Given the description of an element on the screen output the (x, y) to click on. 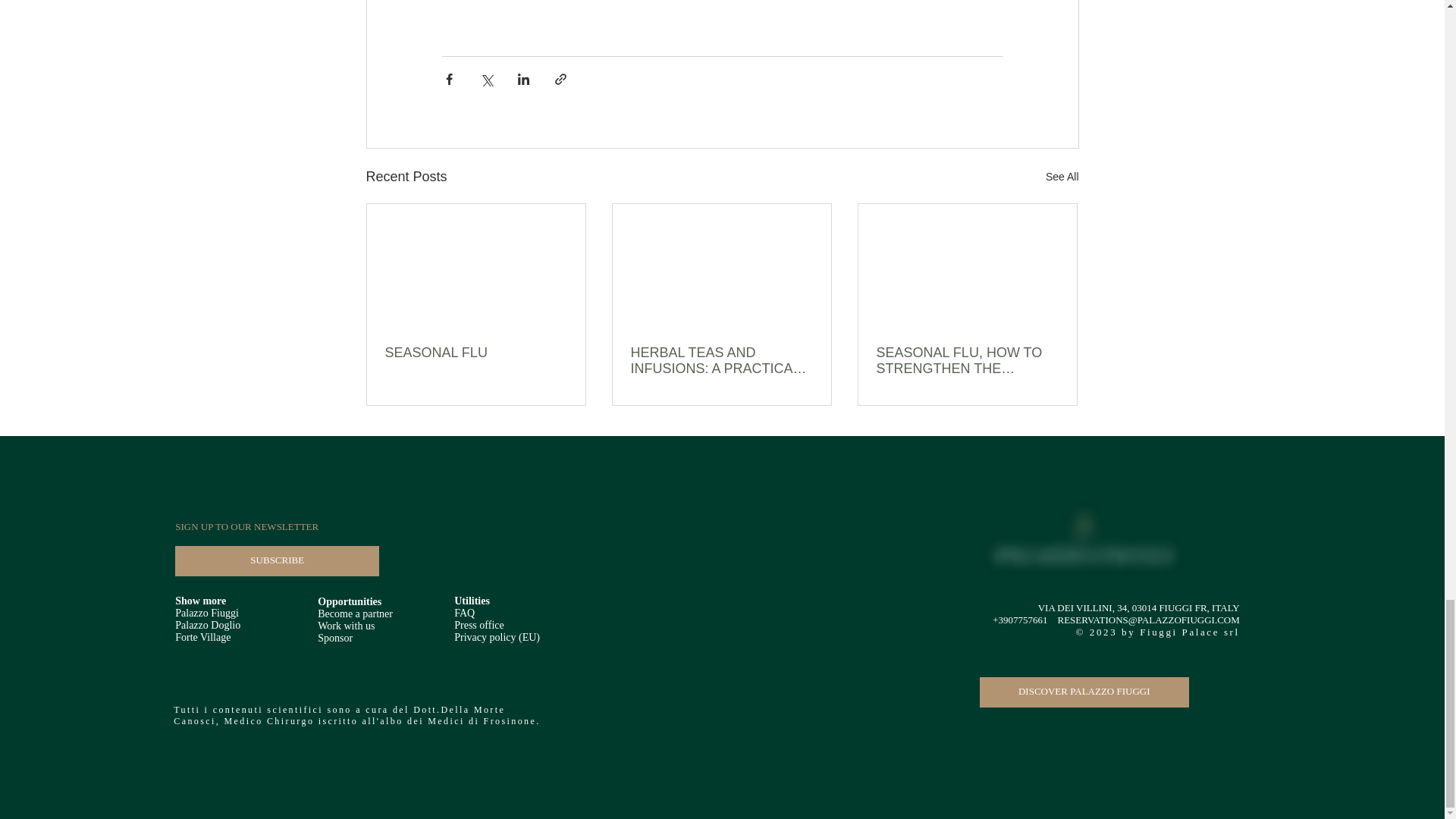
See All (1061, 177)
SEASONAL FLU, HOW TO STRENGTHEN THE IMMUNE SYSTEM (967, 360)
SEASONAL FLU (476, 352)
